Given the description of an element on the screen output the (x, y) to click on. 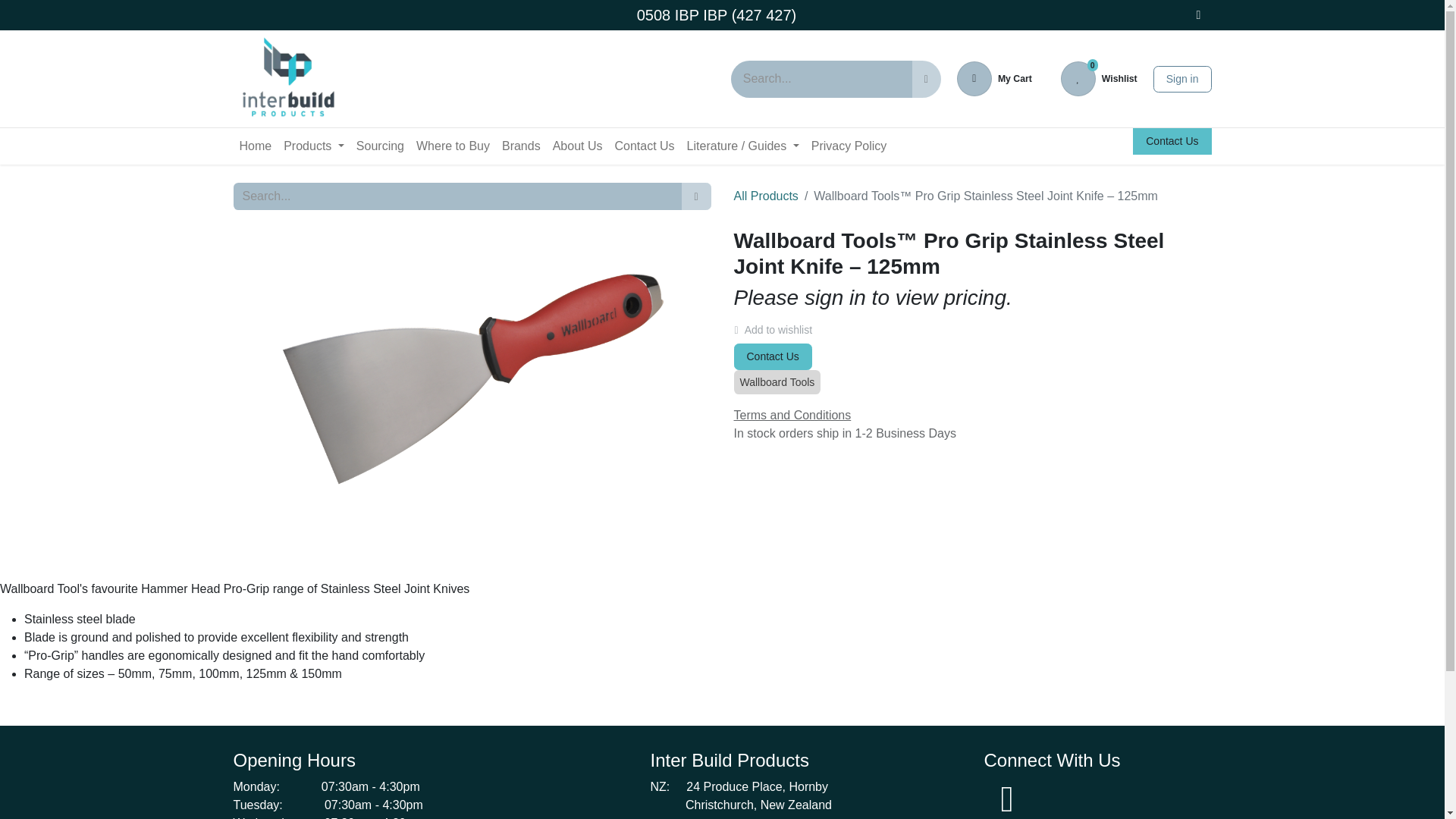
Inter Build Products (1099, 78)
My Cart (287, 78)
Sign in (994, 78)
Products (1182, 78)
Home (314, 146)
